Given the description of an element on the screen output the (x, y) to click on. 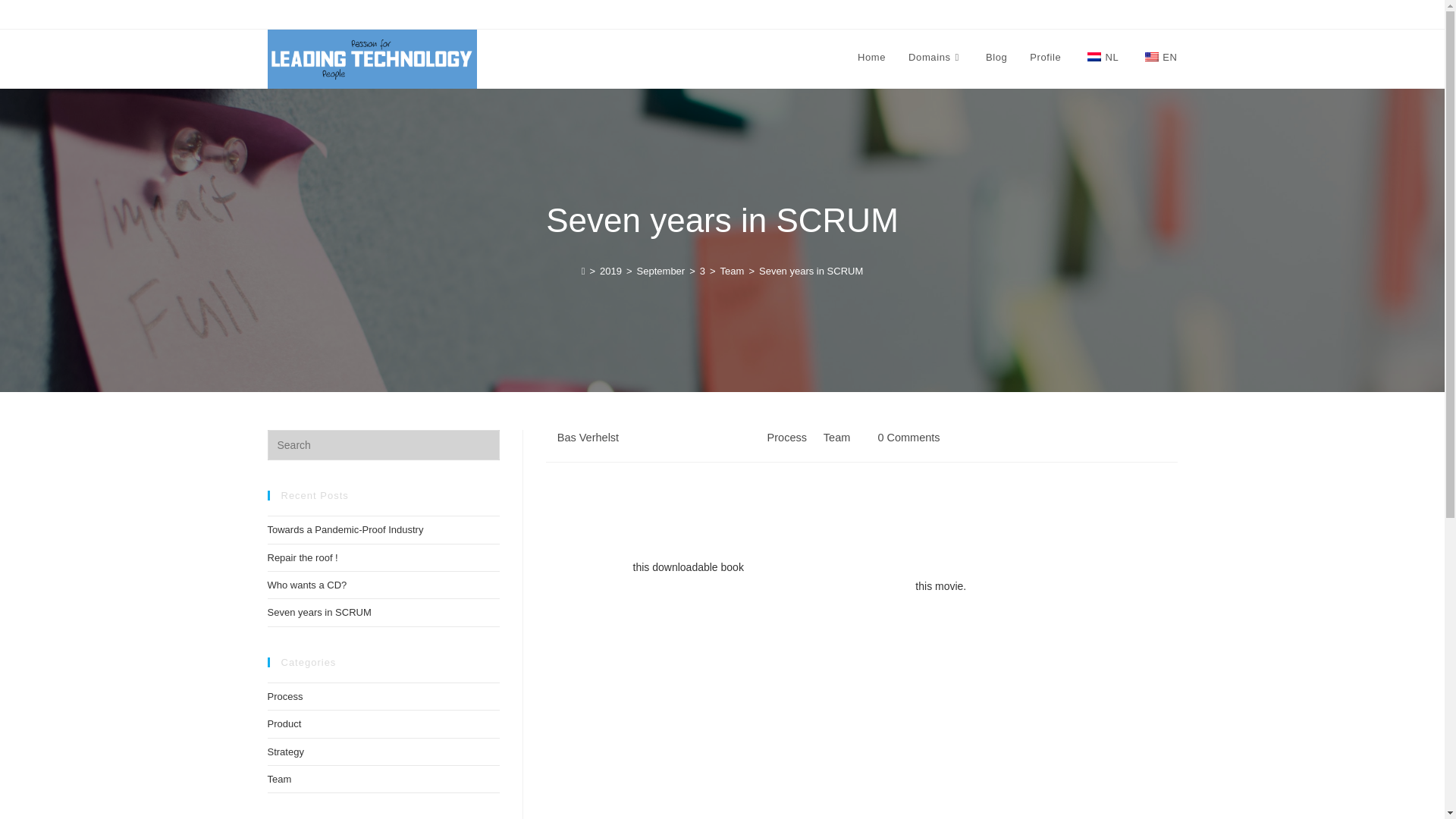
this movie. (940, 585)
Domains (935, 57)
Team (837, 437)
English (1151, 56)
Profile (1044, 57)
Register (550, 13)
Login (510, 13)
Posts by Bas Verhelst (587, 437)
NL (1100, 57)
this downloadable book (688, 567)
Dutch (1093, 56)
Team (732, 270)
September (661, 270)
2019 (610, 270)
Seven years in SCRUM (810, 270)
